Given the description of an element on the screen output the (x, y) to click on. 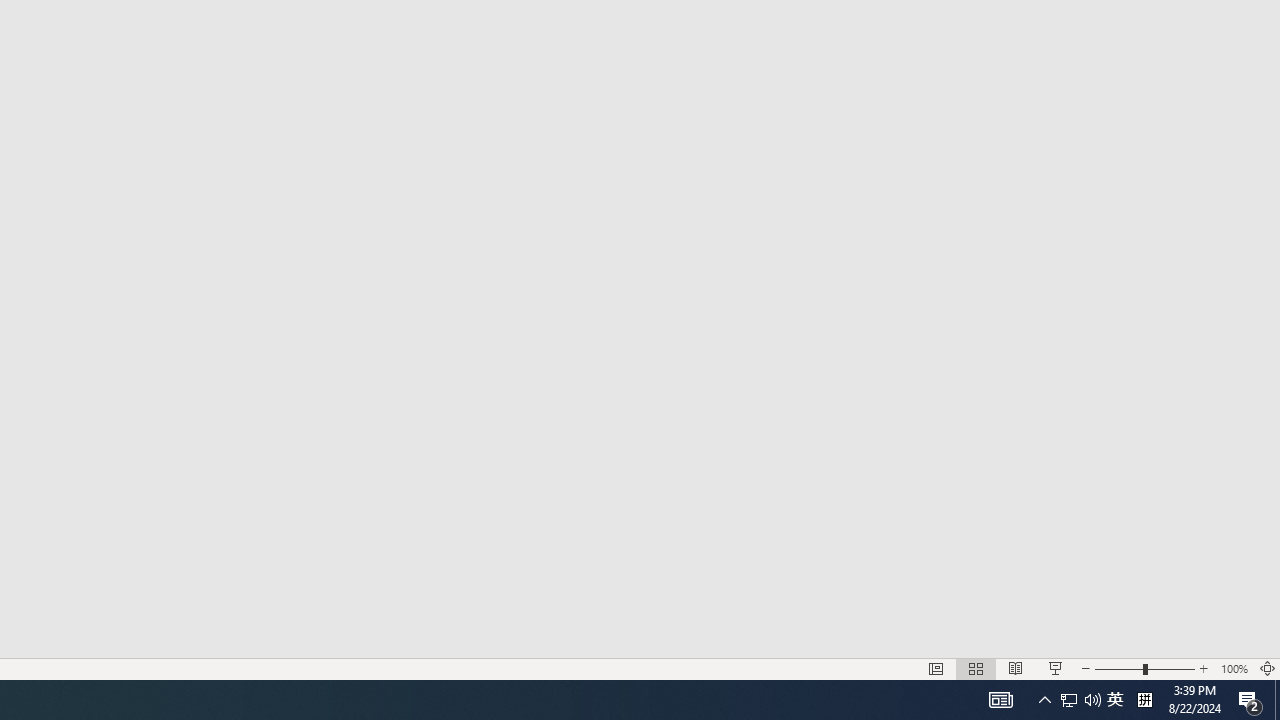
Zoom Out (1118, 668)
User Promoted Notification Area (1080, 699)
Zoom 100% (1234, 668)
Reading View (1015, 668)
